Given the description of an element on the screen output the (x, y) to click on. 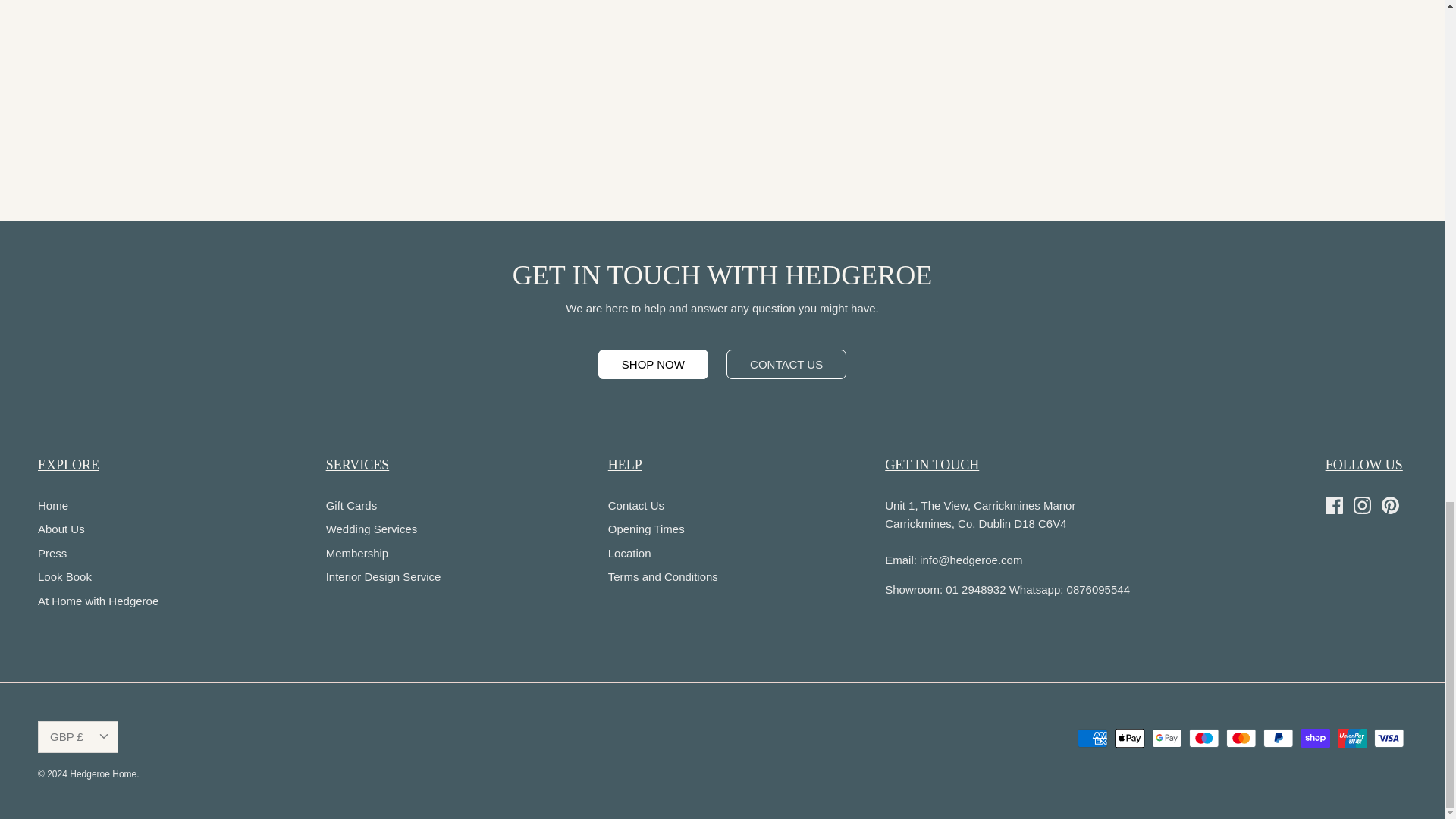
Visa (1388, 737)
Shop Pay (1315, 737)
Mastercard (1240, 737)
Facebook (1333, 505)
Union Pay (1352, 737)
PayPal (1277, 737)
Instagram (1362, 505)
American Express (1092, 737)
Apple Pay (1129, 737)
Google Pay (1166, 737)
Pinterest (1390, 505)
Maestro (1203, 737)
